Given the description of an element on the screen output the (x, y) to click on. 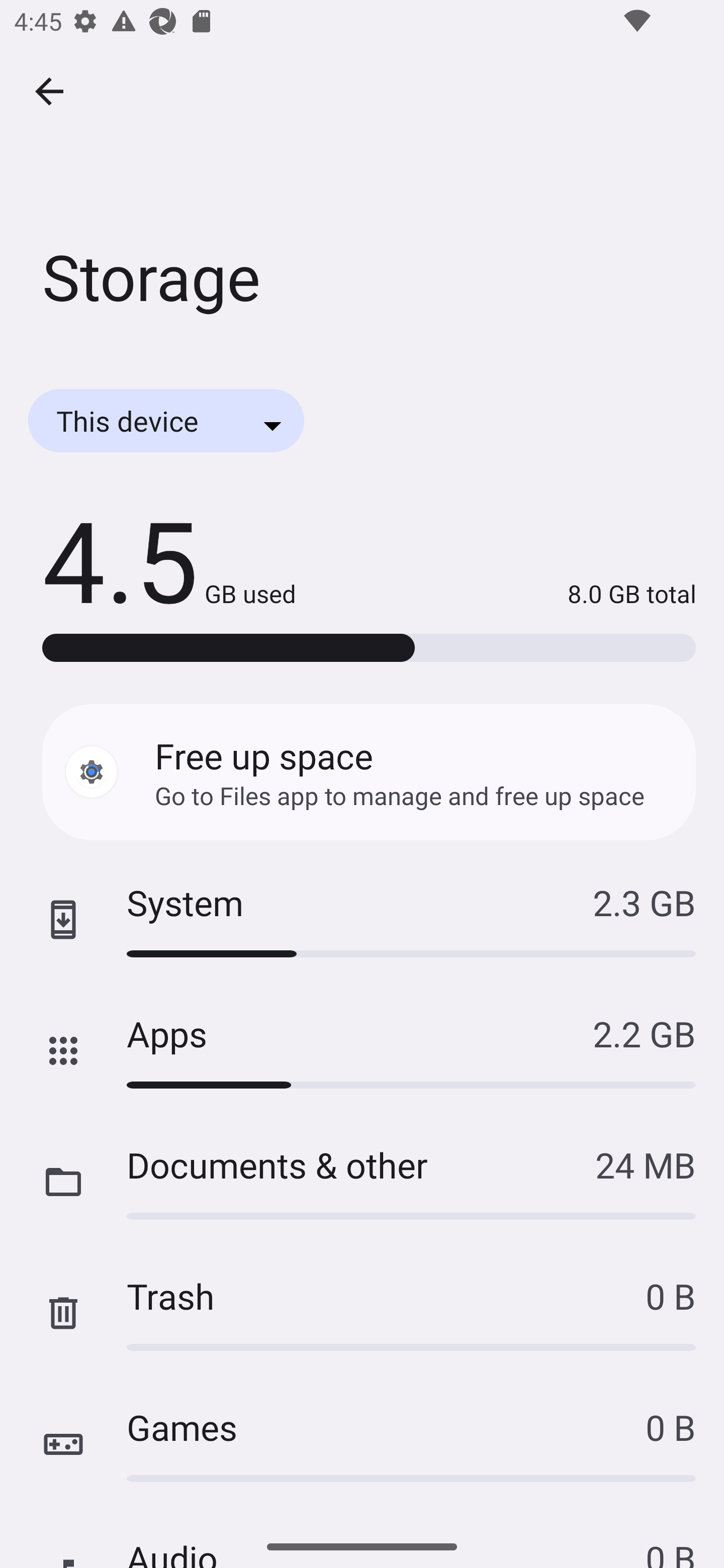
Navigate up (49, 91)
This device (166, 419)
System 2.3 GB 28.0 (362, 920)
Apps 2.2 GB 27.0 (362, 1051)
Documents & other 24 MB 0.0 (362, 1182)
Trash 0 B 0.0 (362, 1313)
Games 0 B 0.0 (362, 1443)
